Given the description of an element on the screen output the (x, y) to click on. 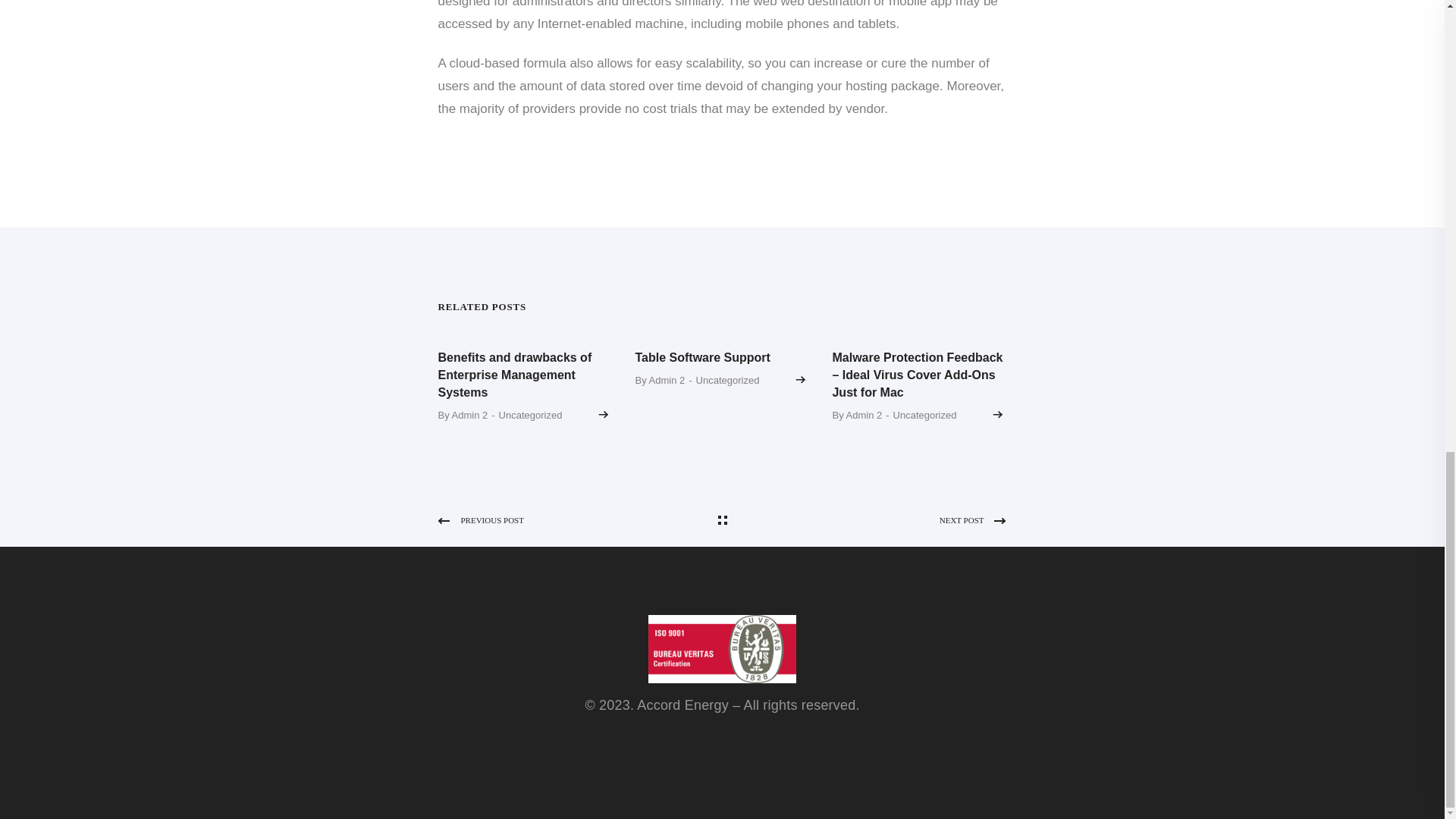
Uncategorized (530, 415)
Benefits and drawbacks of Enterprise Management Systems (515, 374)
Uncategorized (924, 415)
PREVIOUS POST (576, 520)
Table Software Support (702, 357)
Uncategorized (727, 380)
